Given the description of an element on the screen output the (x, y) to click on. 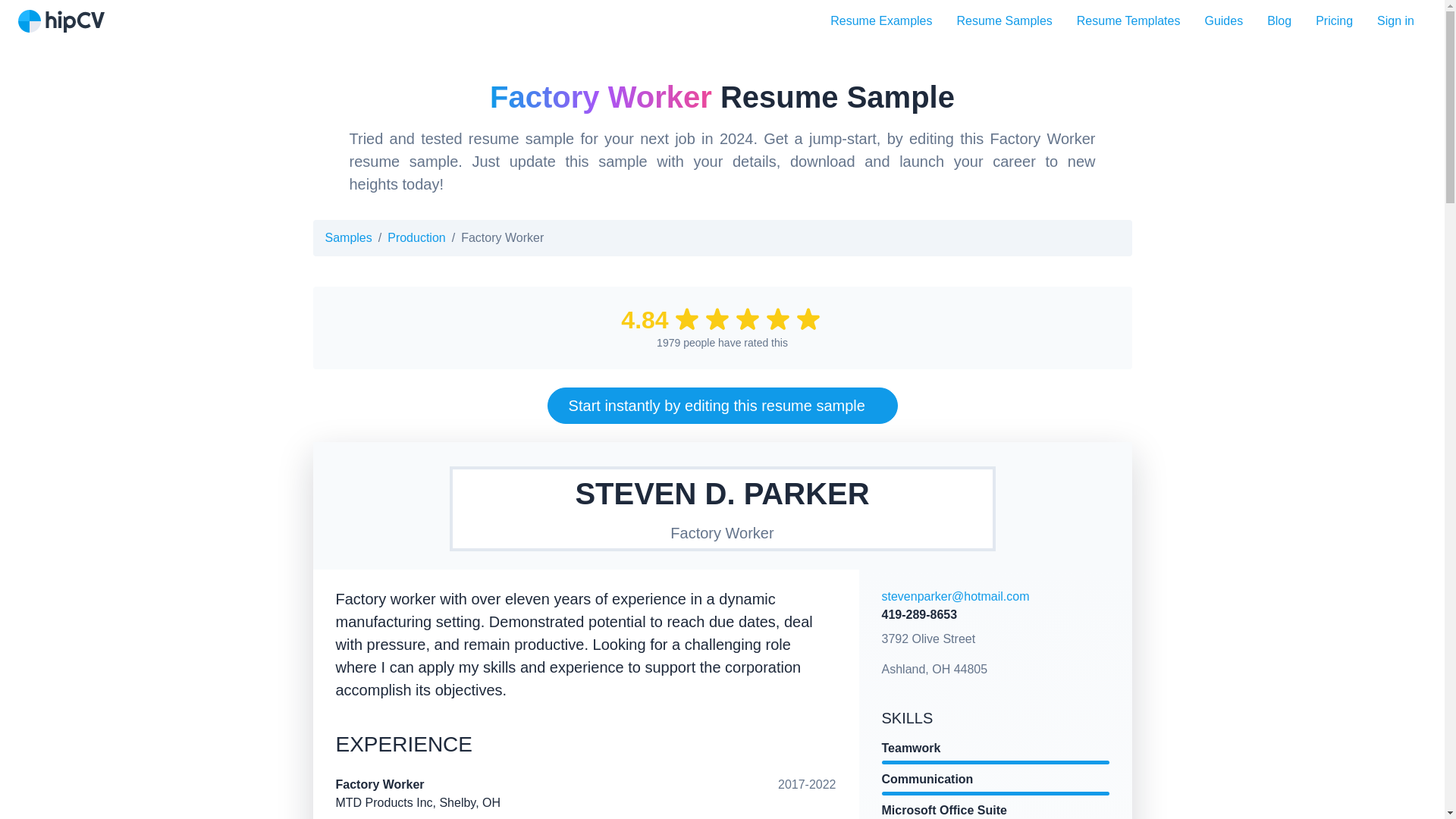
Pricing (1334, 20)
Resume Templates (1128, 20)
  Start instantly by editing this resume sample (722, 405)
Guides (1223, 20)
Blog (1279, 20)
Resume Examples (880, 20)
Resume Samples (1004, 20)
Samples (347, 237)
Production (416, 237)
Sign in (1395, 20)
